Given the description of an element on the screen output the (x, y) to click on. 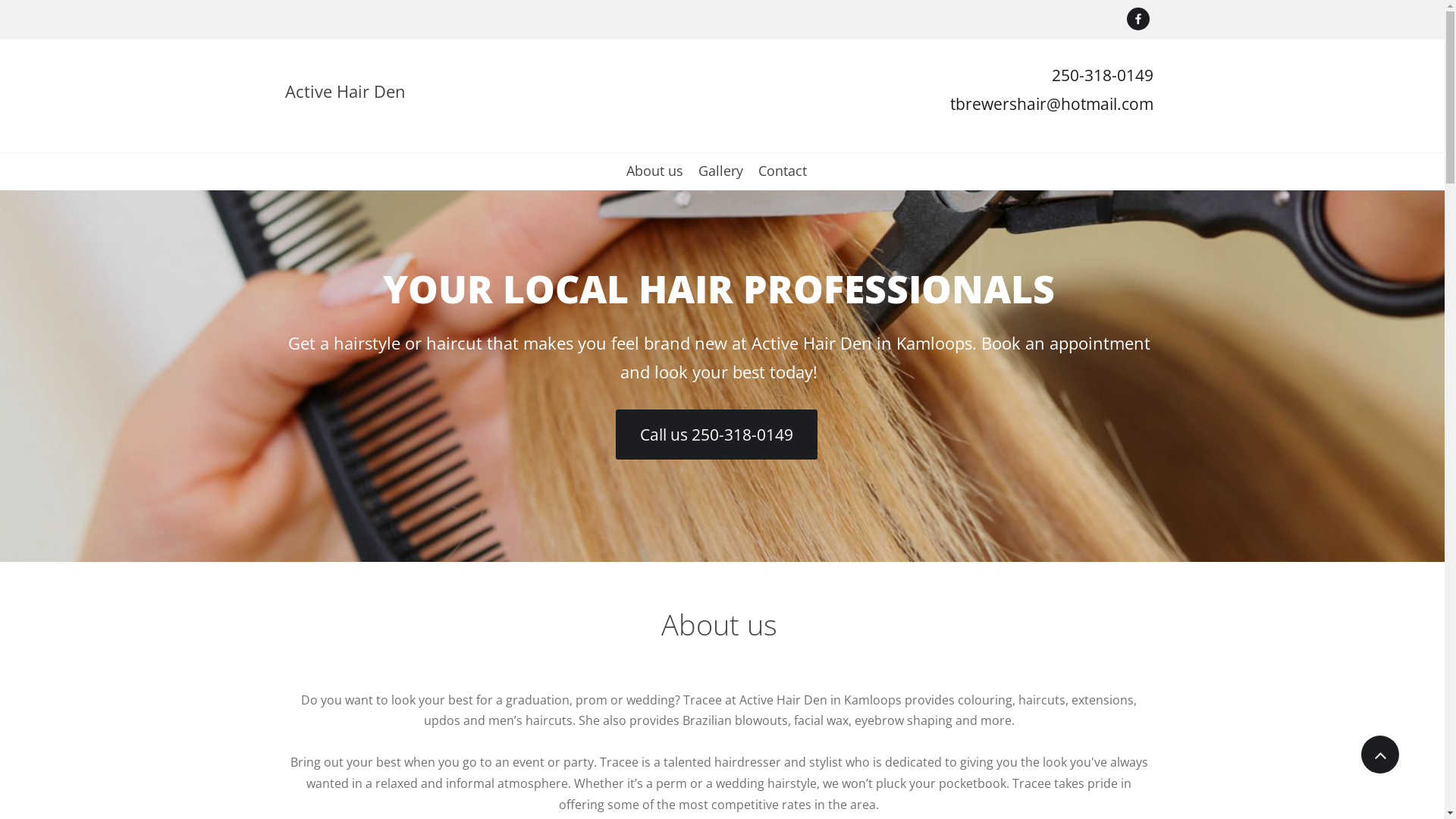
250-318-0149 Element type: text (1101, 78)
Call us 250-318-0149 Element type: text (716, 434)
Active Hair Den Element type: text (345, 89)
tbrewershair@hotmail.com Element type: text (1050, 103)
About us Element type: text (654, 176)
Contact Element type: text (782, 176)
Gallery Element type: text (720, 176)
